Given the description of an element on the screen output the (x, y) to click on. 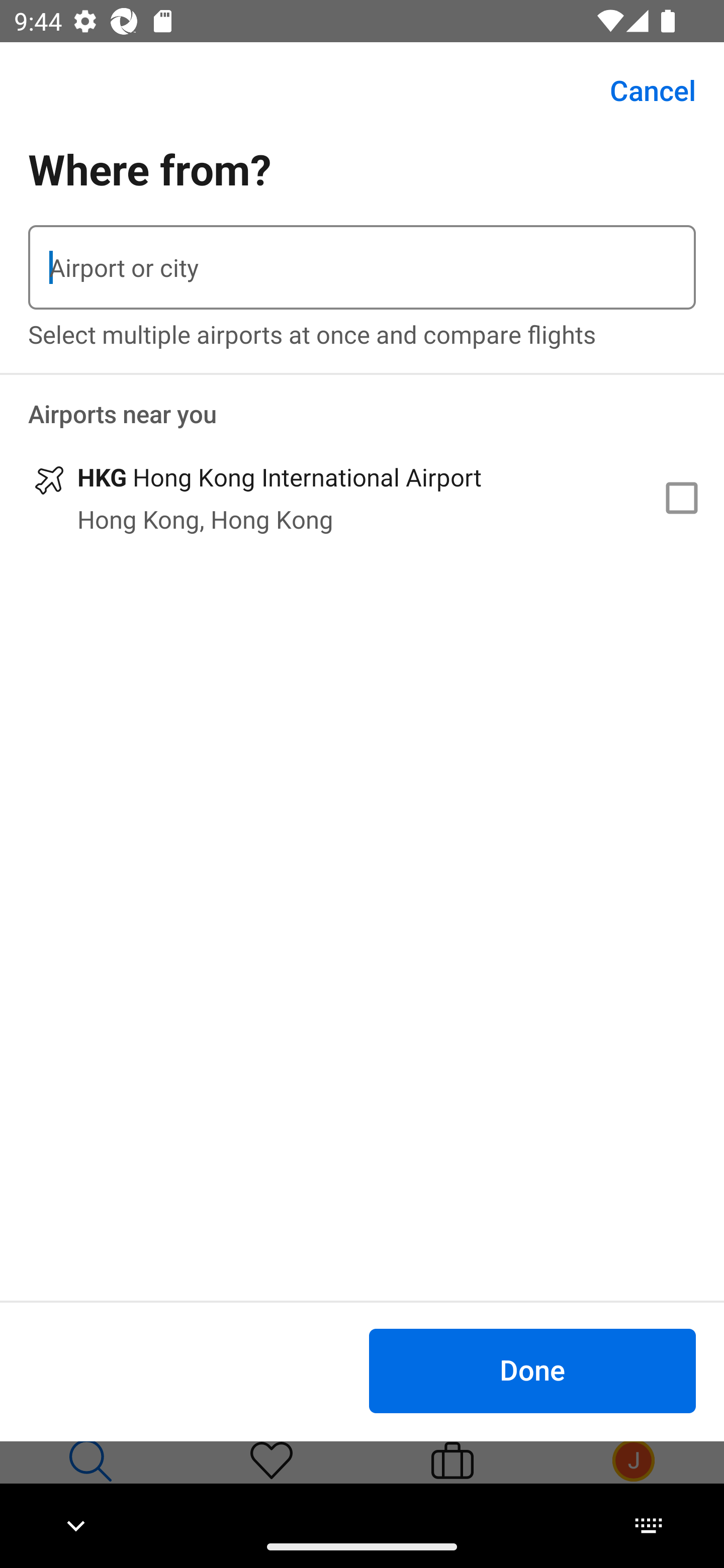
Cancel (641, 90)
Airport or city (361, 266)
Done (532, 1370)
